Given the description of an element on the screen output the (x, y) to click on. 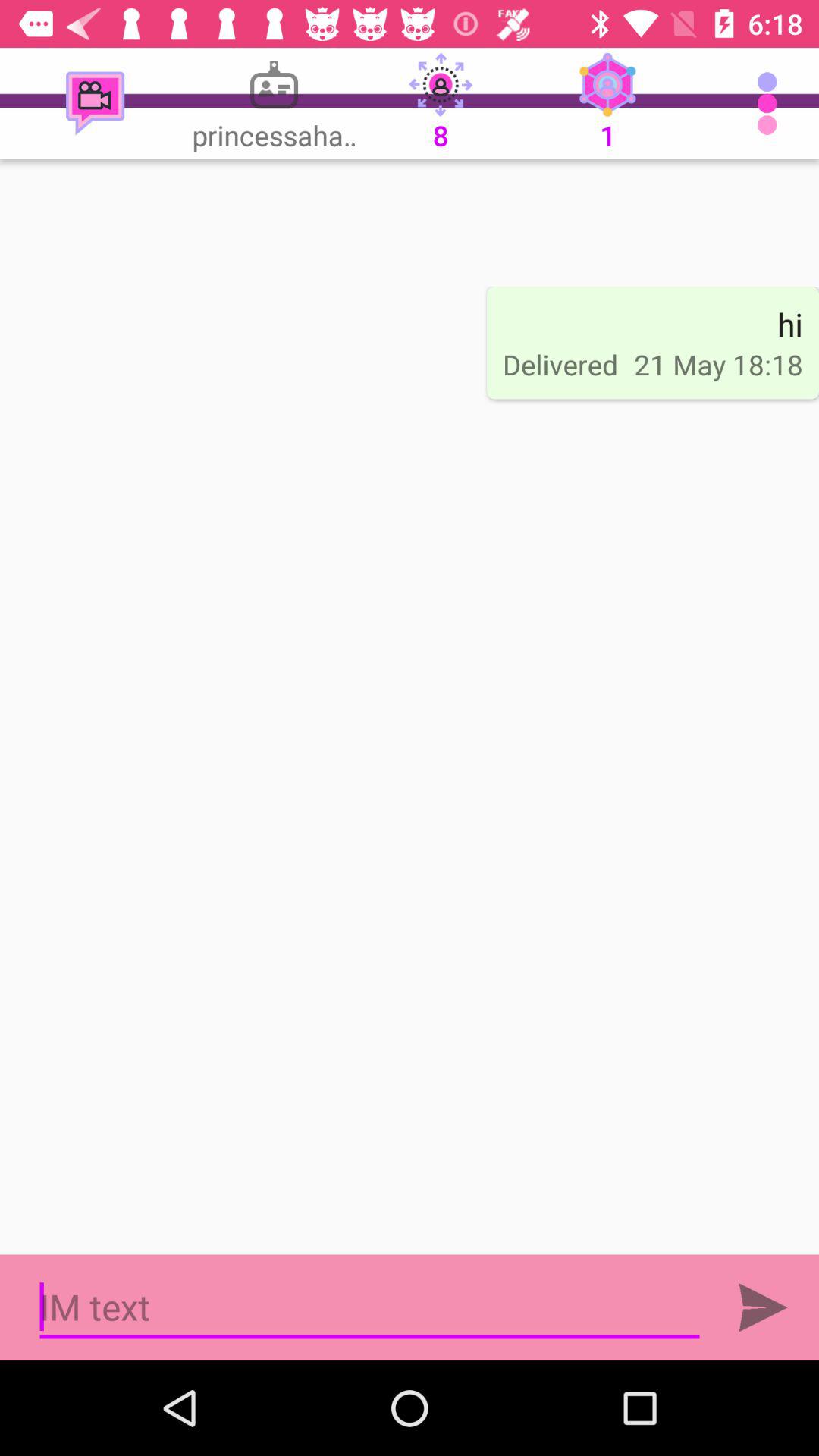
next page (763, 1307)
